Given the description of an element on the screen output the (x, y) to click on. 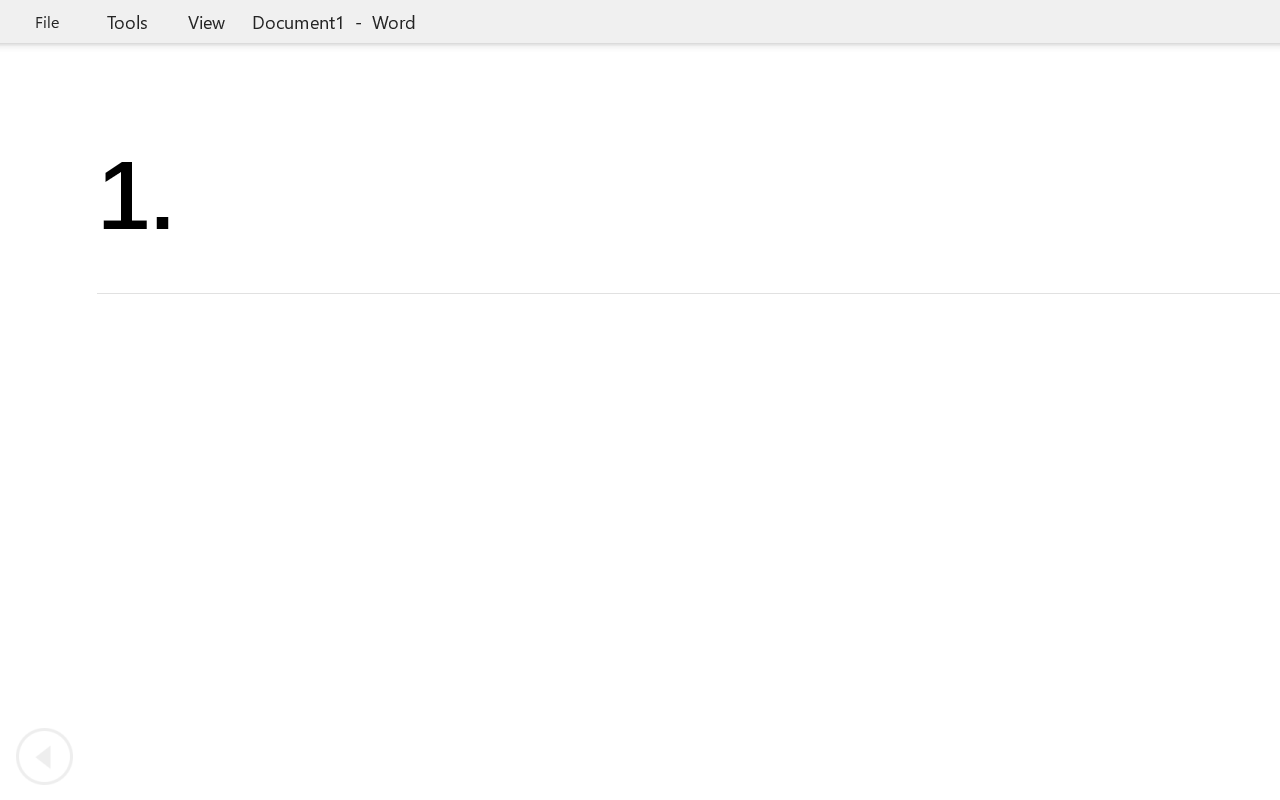
Tools (127, 21)
